Given the description of an element on the screen output the (x, y) to click on. 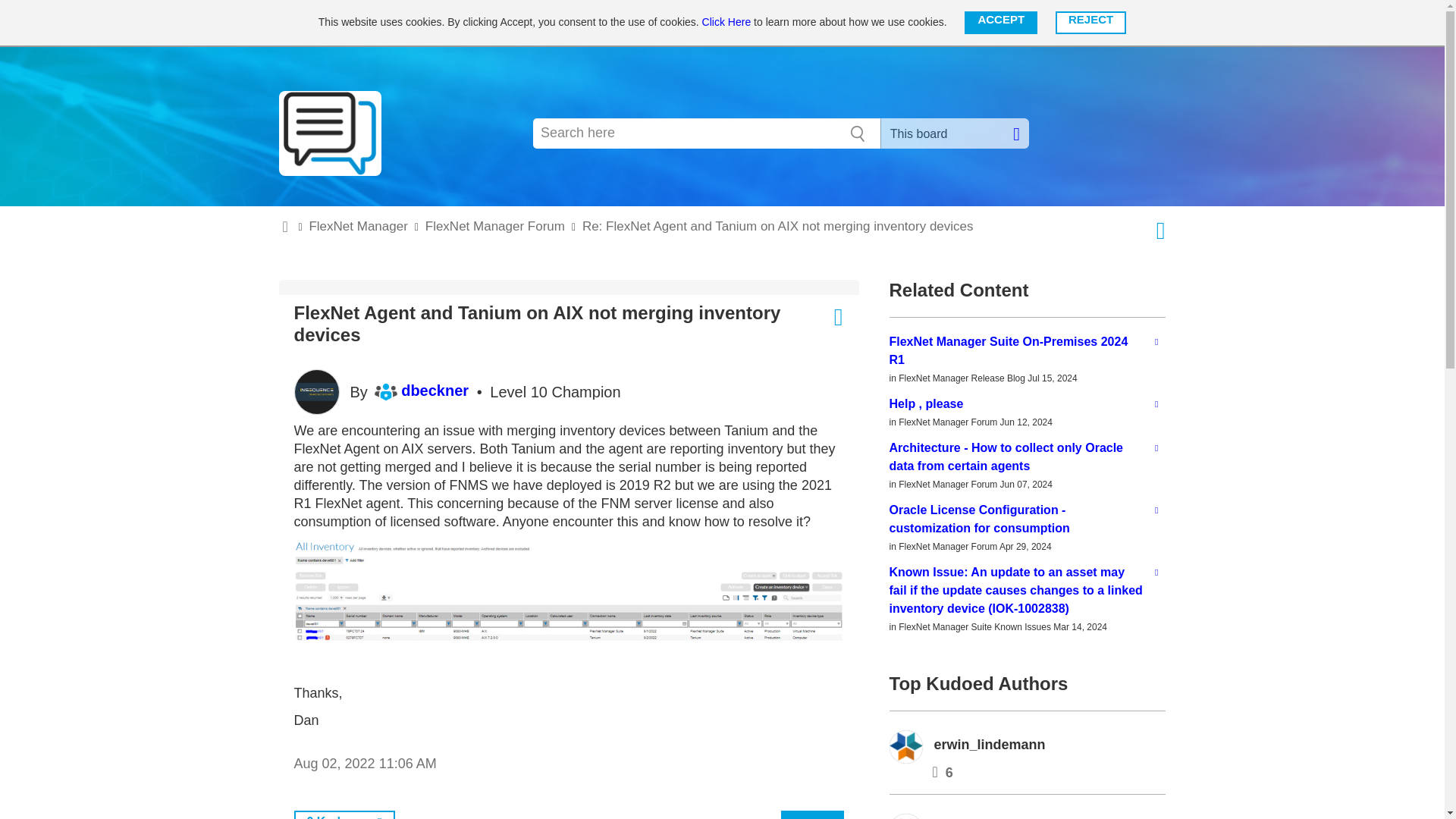
Product Access (1017, 22)
Click Here (726, 21)
More (941, 22)
Find My Product (520, 22)
Capture.PNG (569, 591)
Learn (599, 22)
The total number of kudos this post has received. (330, 814)
Search Granularity (954, 132)
REJECT (1090, 22)
Flexera Community (367, 22)
Level 10 Champion (385, 392)
Support (714, 22)
ACCEPT (999, 22)
dbeckner (316, 391)
Ideas (653, 22)
